Given the description of an element on the screen output the (x, y) to click on. 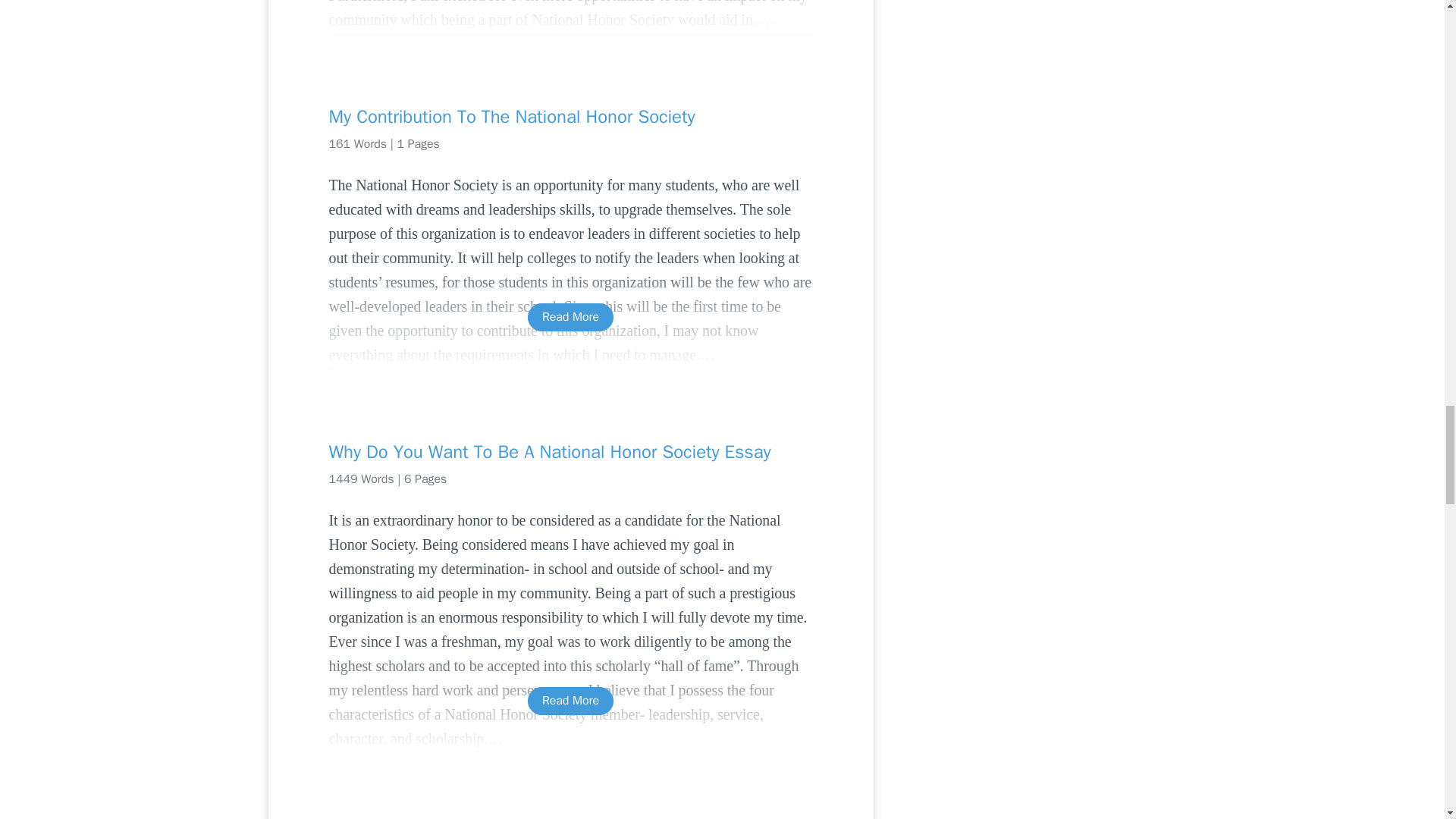
Why Do You Want To Be A National Honor Society Essay (570, 451)
My Contribution To The National Honor Society (570, 116)
Read More (569, 317)
Read More (569, 700)
